Given the description of an element on the screen output the (x, y) to click on. 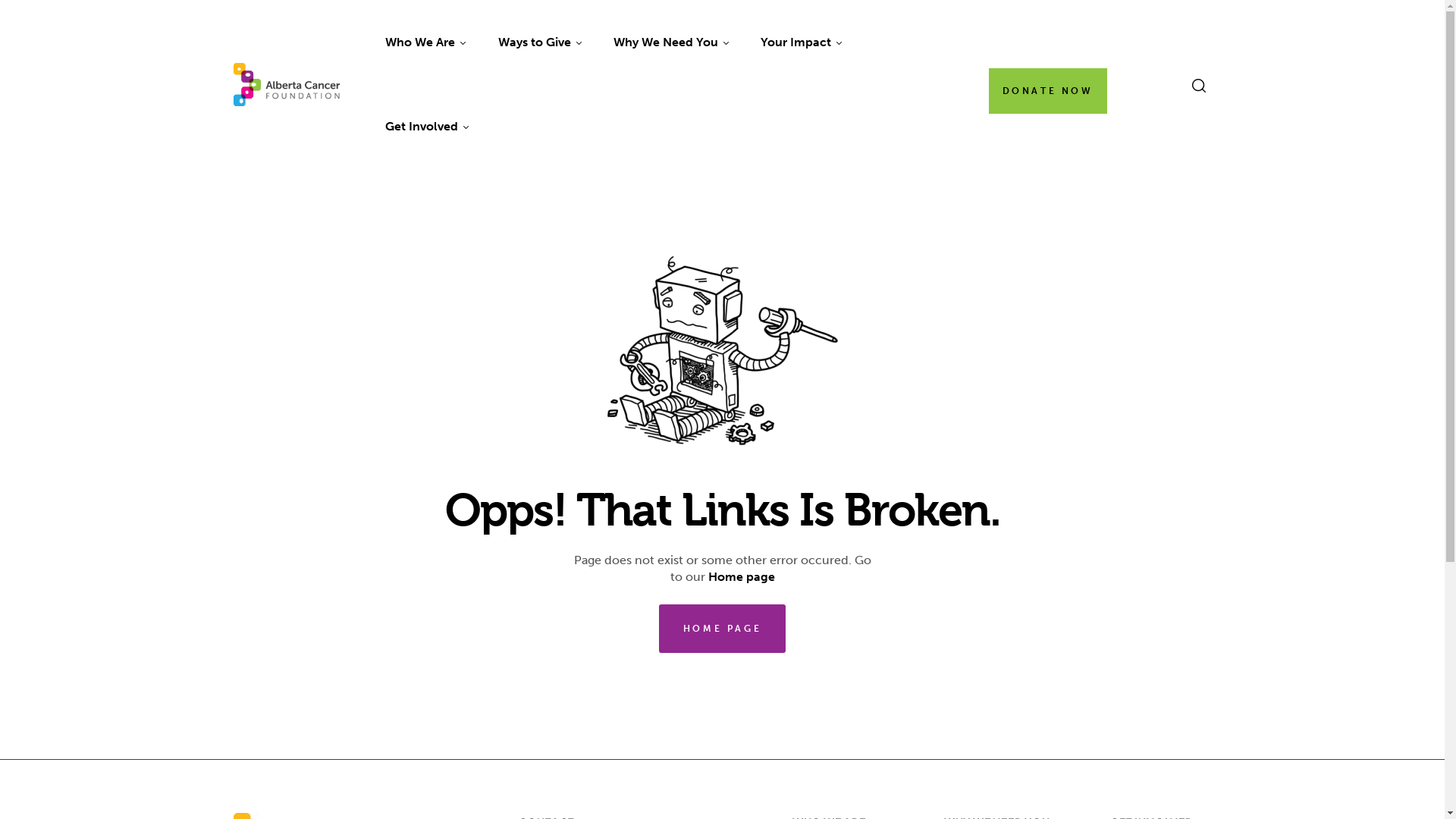
Your Impact Element type: text (801, 42)
DONATE NOW Element type: text (1047, 90)
Who We Are Element type: text (425, 42)
Ways to Give Element type: text (539, 42)
Get Involved Element type: text (426, 126)
HOME PAGE Element type: text (722, 627)
Why We Need You Element type: text (671, 42)
Home page Element type: text (741, 576)
